Given the description of an element on the screen output the (x, y) to click on. 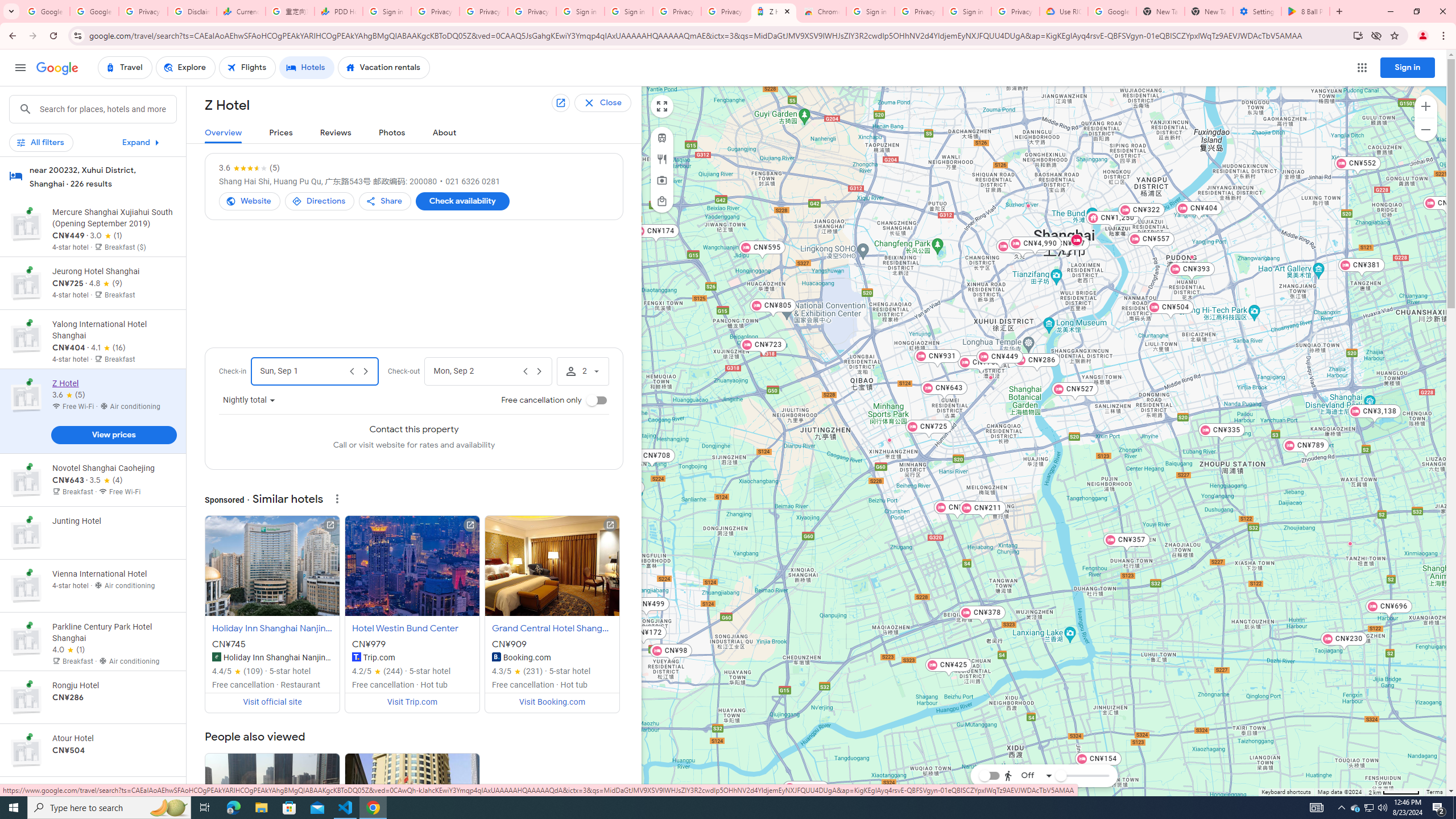
Parkline Century Park Hotel Shanghai (1191, 256)
Holiday Inn Shanghai Nanjing Road (216, 656)
Z Hotel (1075, 239)
Transit (661, 138)
4.3 out of 5 stars from 231 reviews (517, 671)
Reachability slider (1060, 775)
